Given the description of an element on the screen output the (x, y) to click on. 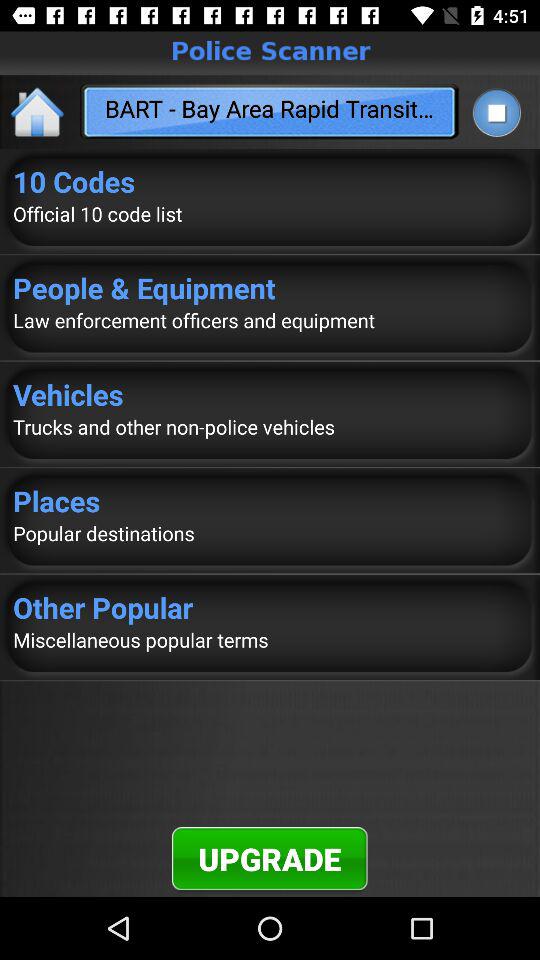
select the icon below people & equipment (269, 320)
